Given the description of an element on the screen output the (x, y) to click on. 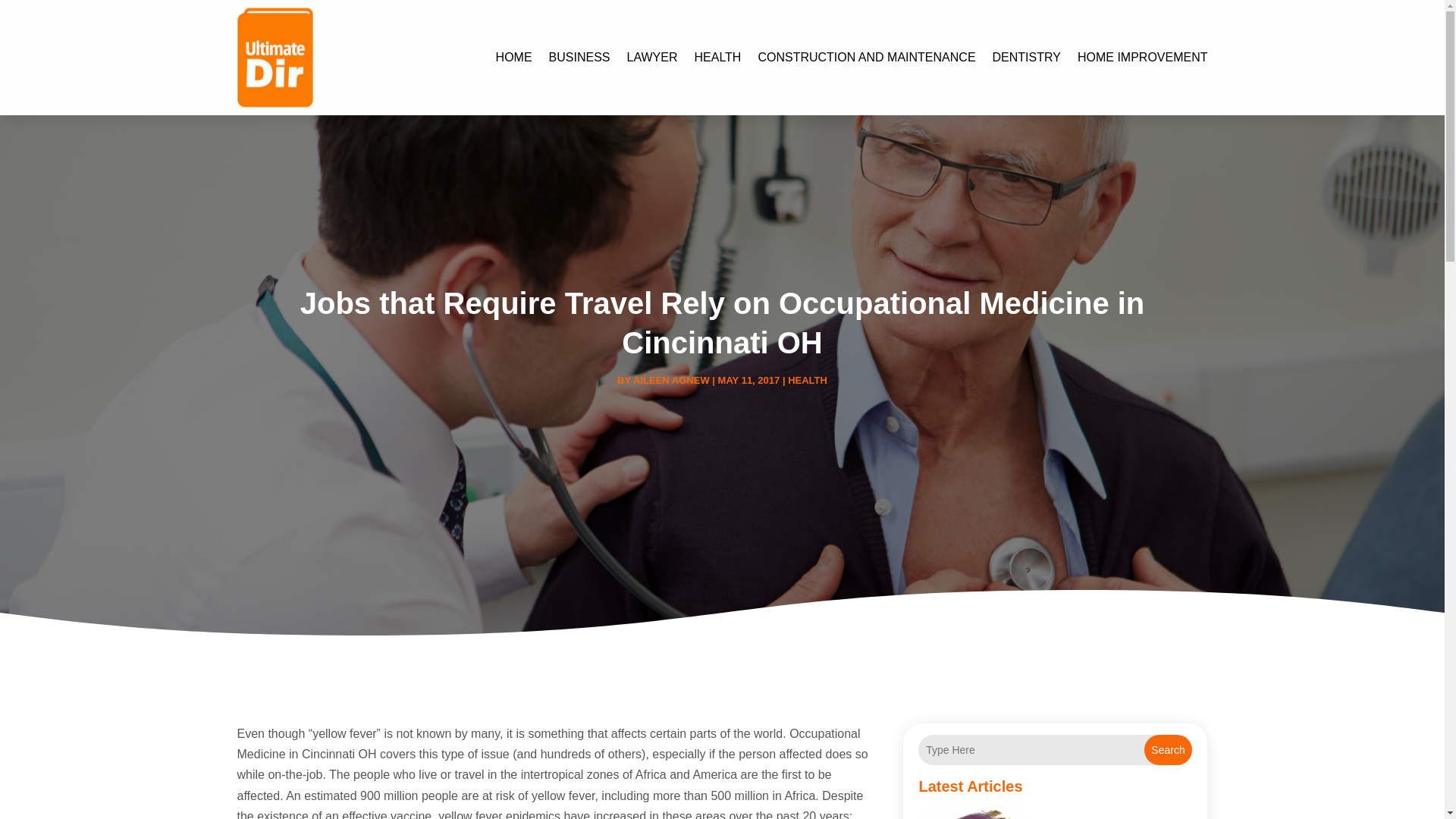
HOME IMPROVEMENT (1142, 57)
AILEEN AGNEW (671, 379)
CONSTRUCTION AND MAINTENANCE (866, 57)
Posts by Aileen Agnew (671, 379)
Search (1168, 749)
HEALTH (807, 379)
